Given the description of an element on the screen output the (x, y) to click on. 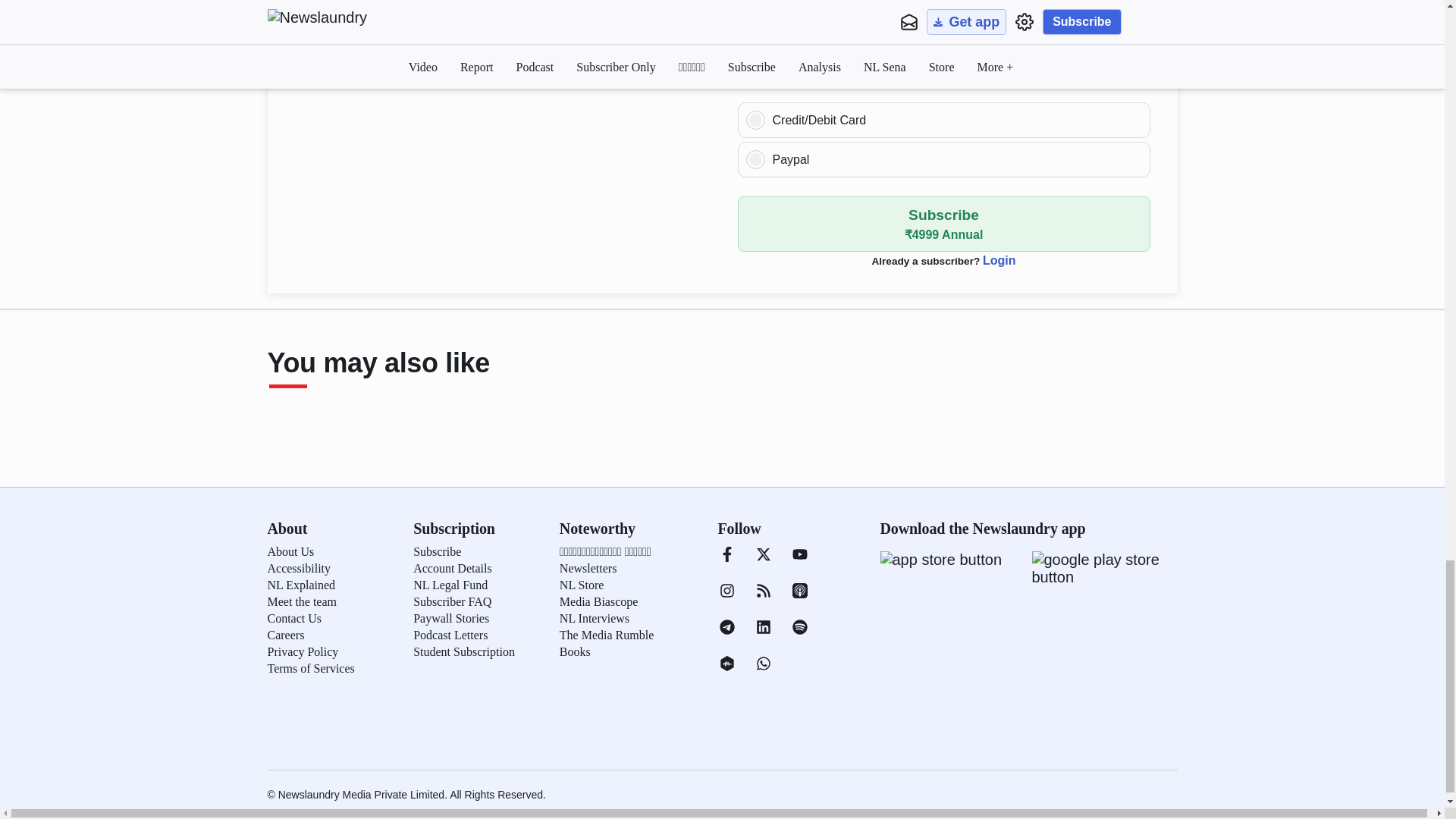
on (755, 158)
on (755, 119)
